Given the description of an element on the screen output the (x, y) to click on. 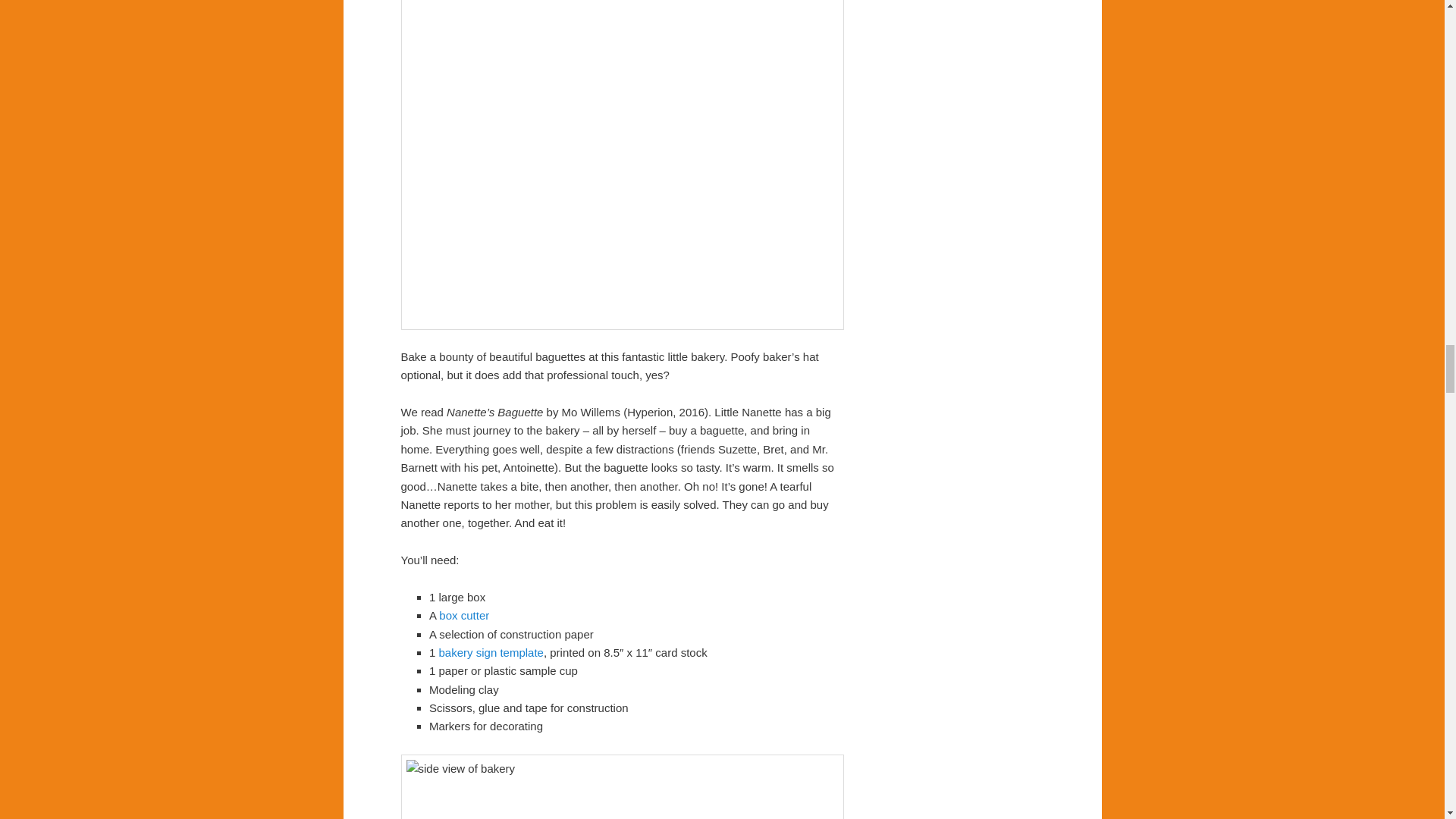
box cutter (464, 615)
